Given the description of an element on the screen output the (x, y) to click on. 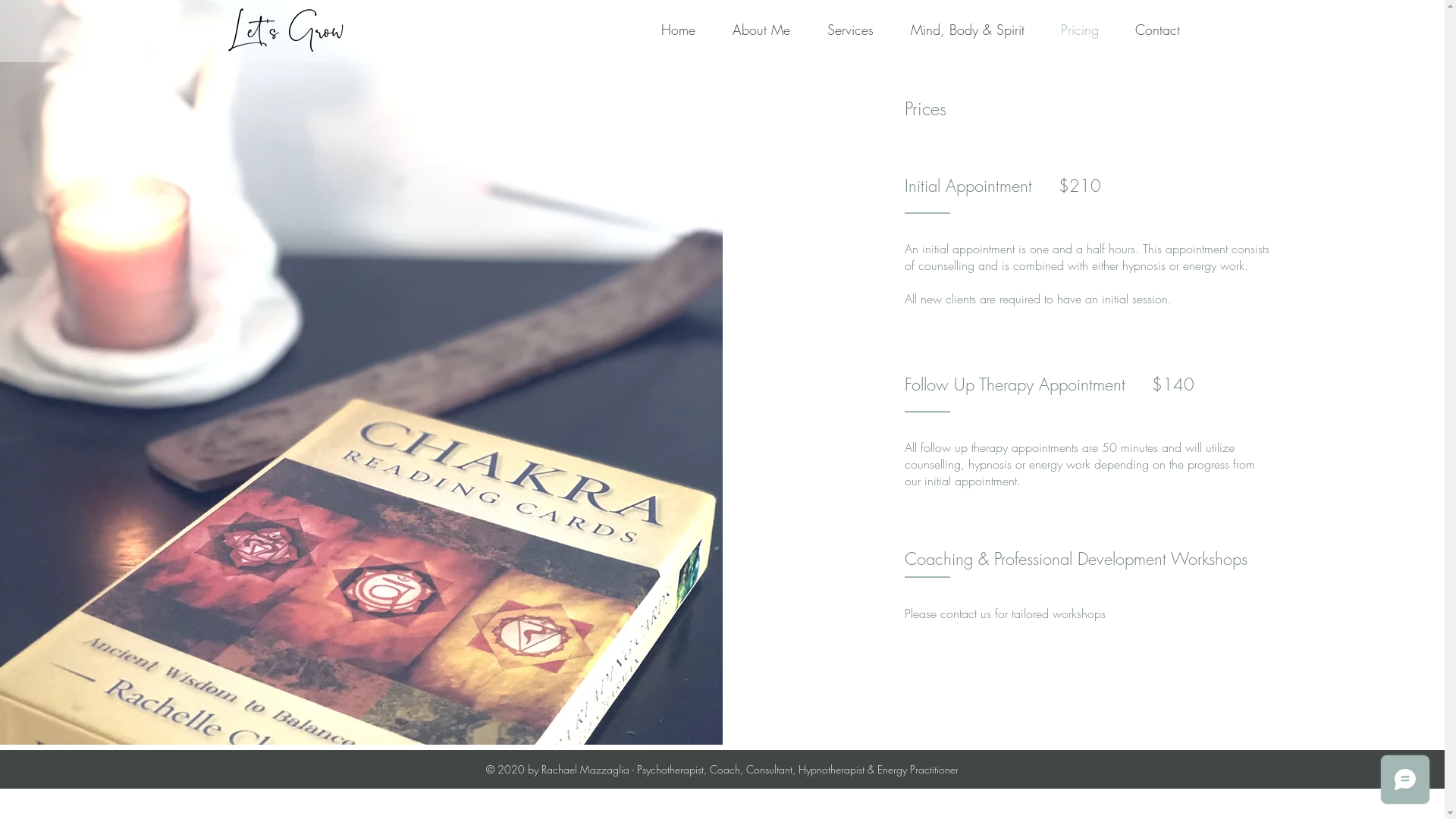
Services Element type: text (839, 29)
Pricing Element type: text (1068, 29)
About Me Element type: text (749, 29)
text only - black.png Element type: hover (288, 29)
Home Element type: text (666, 29)
Contact Element type: text (1145, 29)
Mind, Body & Spirit Element type: text (956, 29)
